Given the description of an element on the screen output the (x, y) to click on. 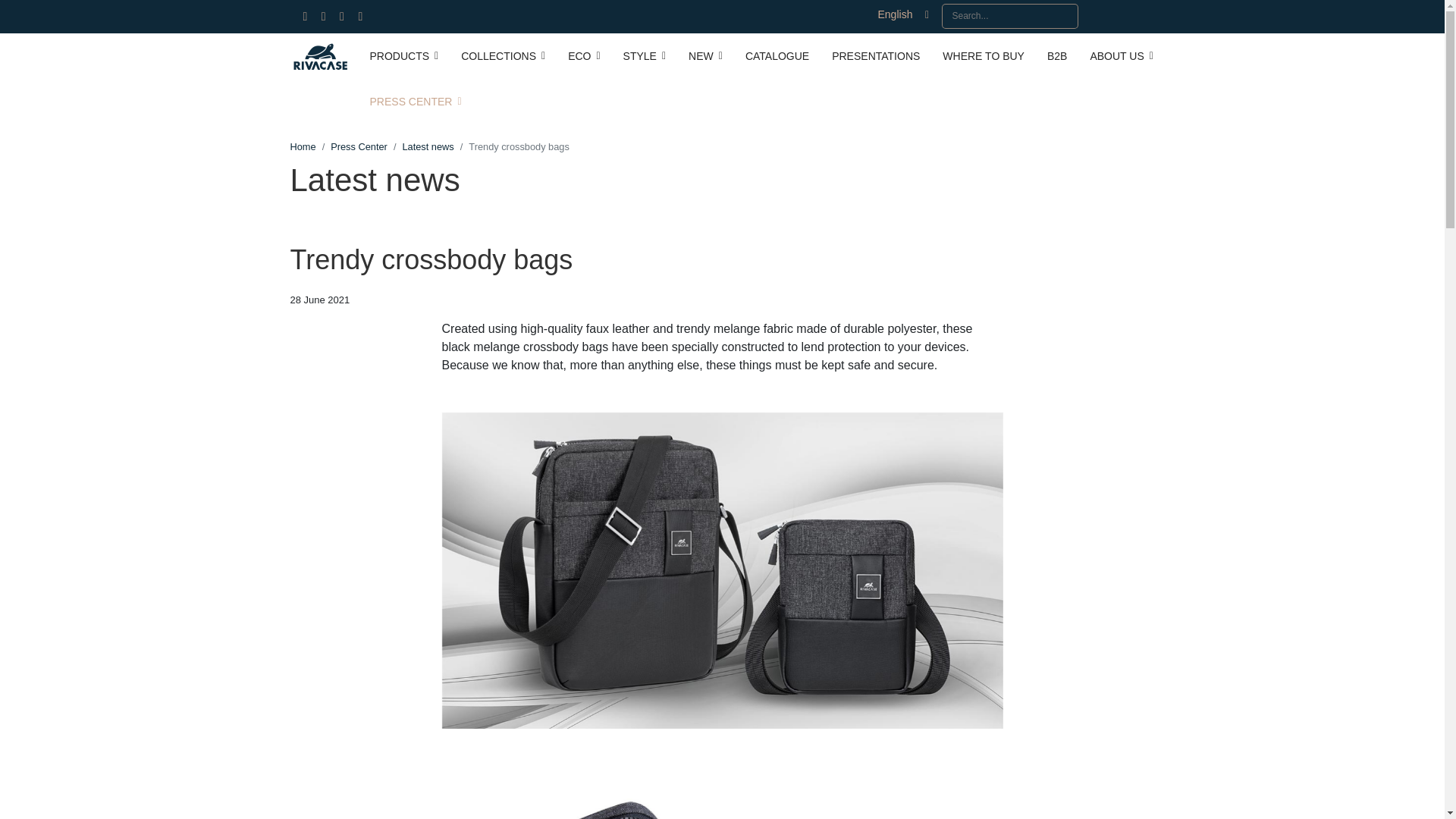
English (901, 14)
PRODUCTS (403, 55)
Published: 28 June 2021 (319, 299)
